Given the description of an element on the screen output the (x, y) to click on. 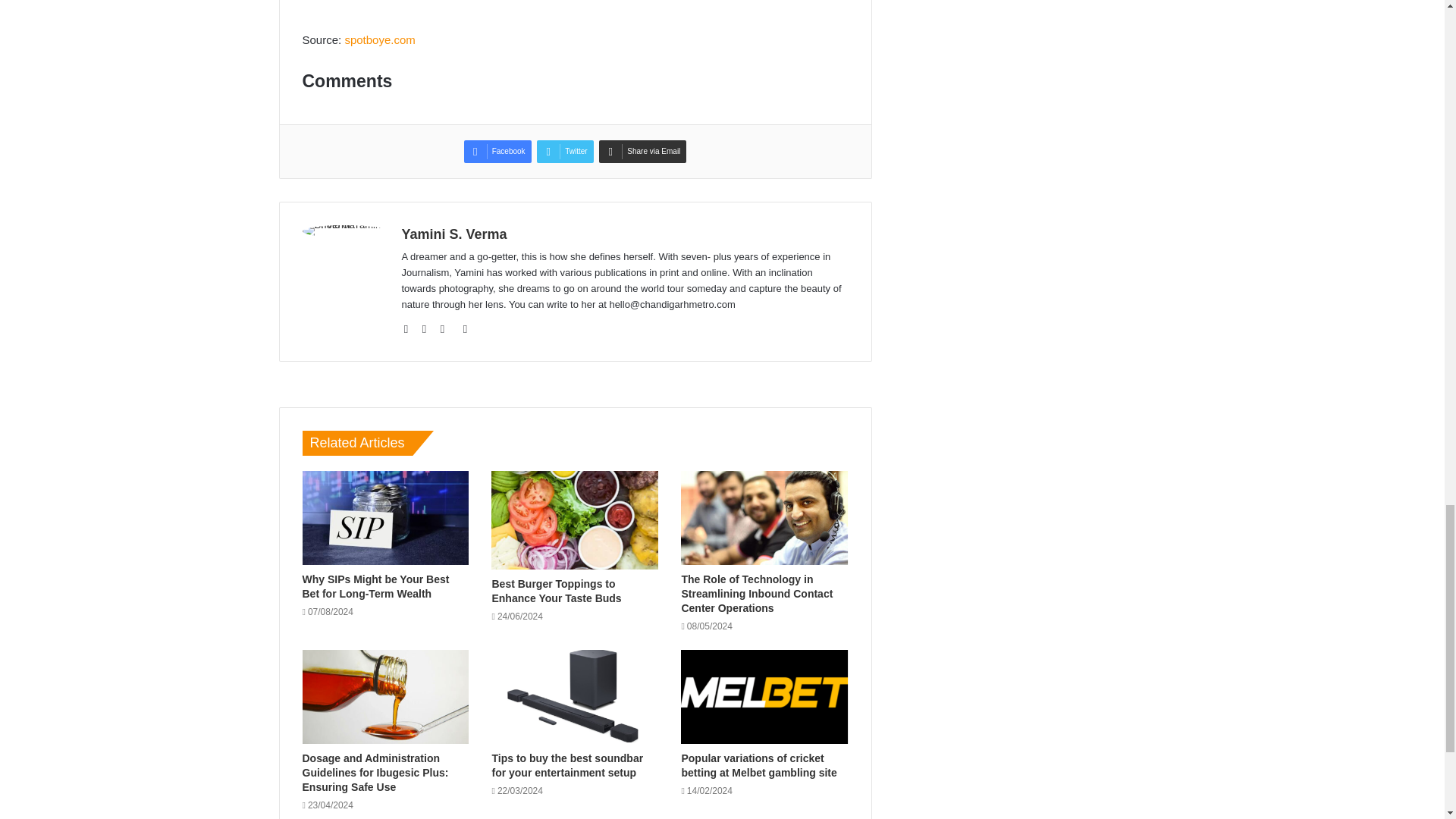
Yamini S. Verma (453, 233)
Facebook (497, 151)
Twitter (564, 151)
Facebook (497, 151)
Share via Email (641, 151)
Twitter (564, 151)
Share via Email (641, 151)
spotboye.com (378, 39)
